Given the description of an element on the screen output the (x, y) to click on. 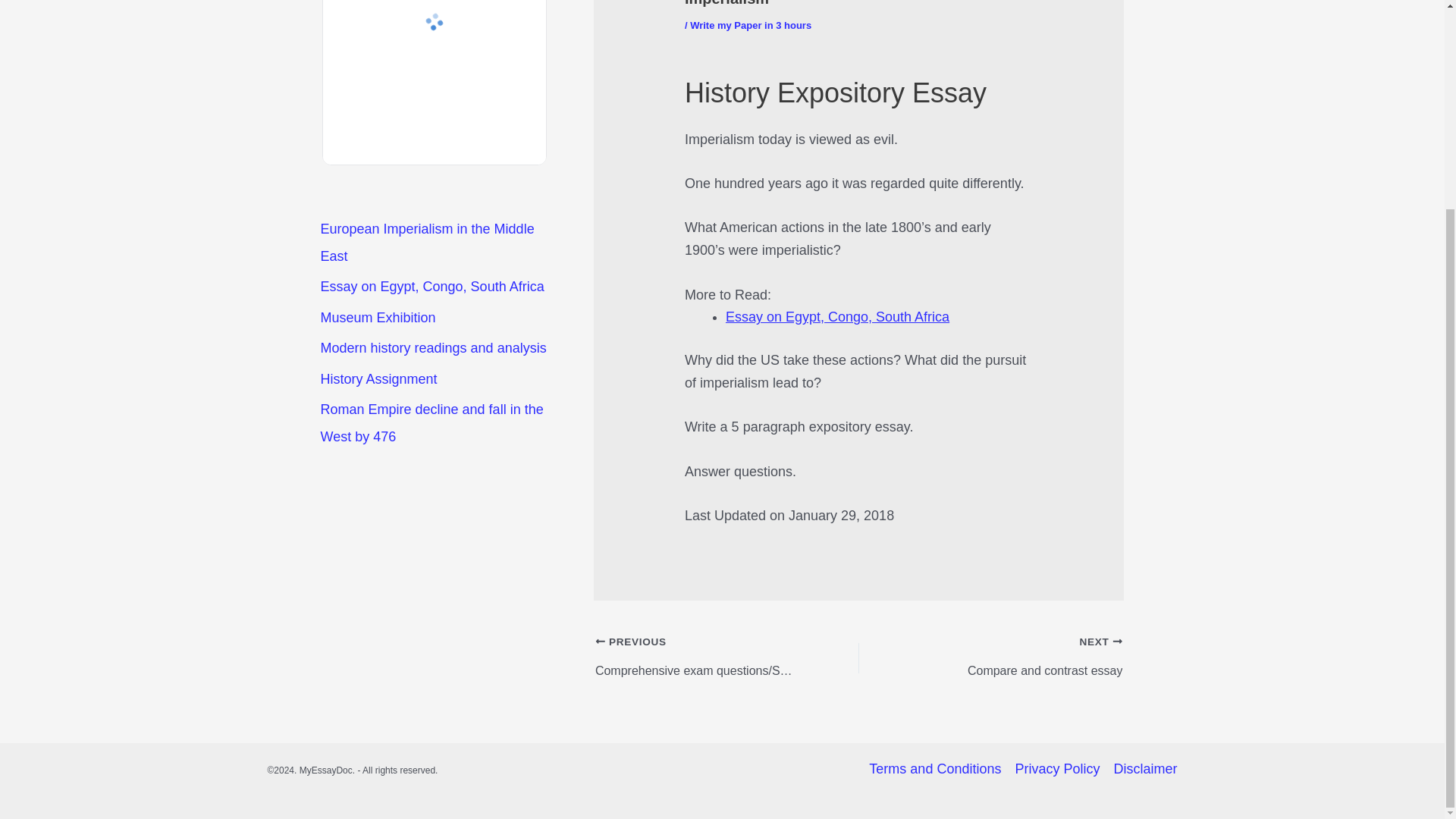
Museum Exhibition (377, 316)
Write my Paper in 3 hours (750, 25)
European Imperialism in the Middle East (427, 242)
Essay Price Calculator (433, 90)
Compare and contrast essay (1016, 643)
Terms and Conditions (938, 769)
Privacy Policy (1056, 769)
Essay on Egypt, Congo, South Africa (431, 286)
Disclaimer (1141, 769)
History Assignment (378, 378)
